Given the description of an element on the screen output the (x, y) to click on. 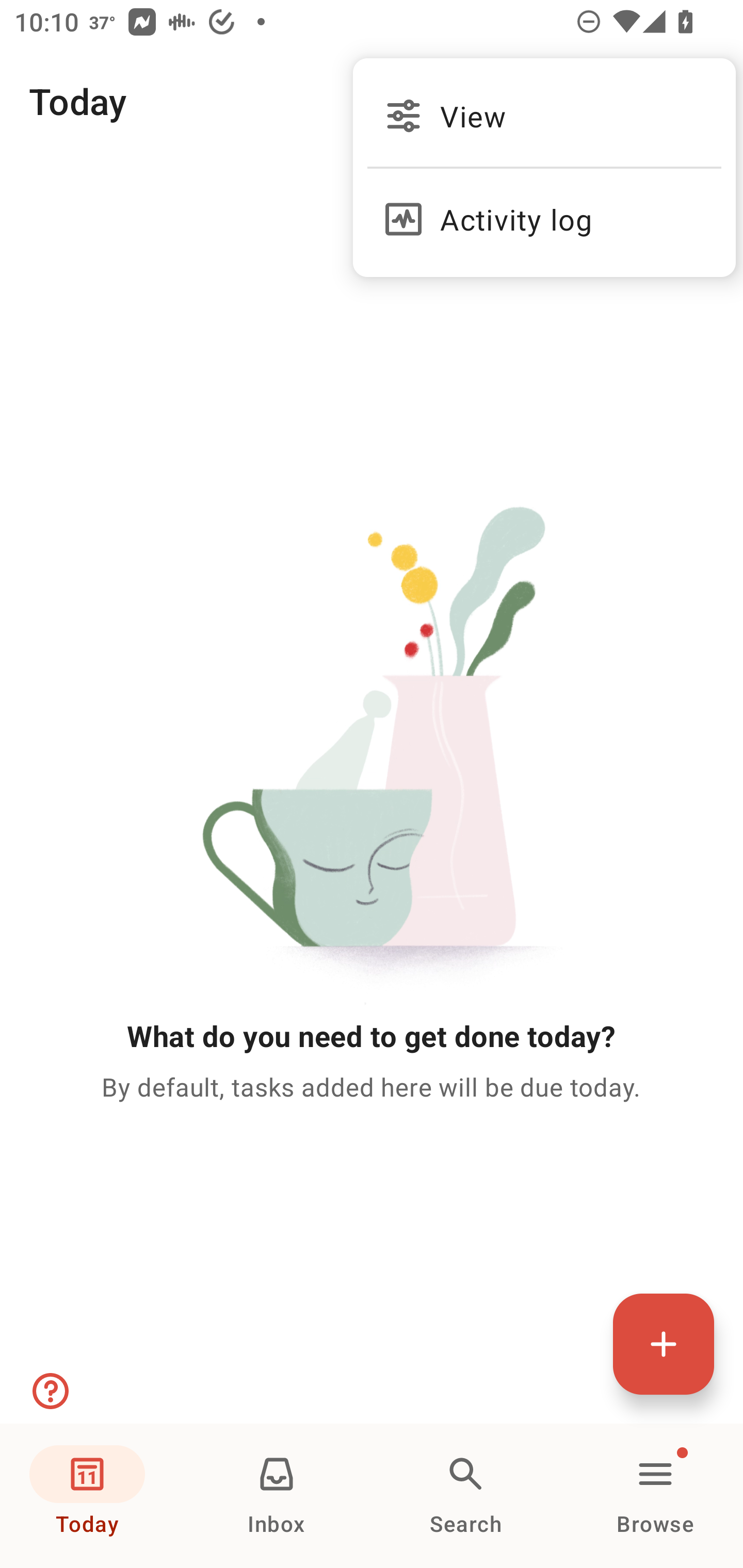
View (544, 115)
Activity log (544, 210)
